Given the description of an element on the screen output the (x, y) to click on. 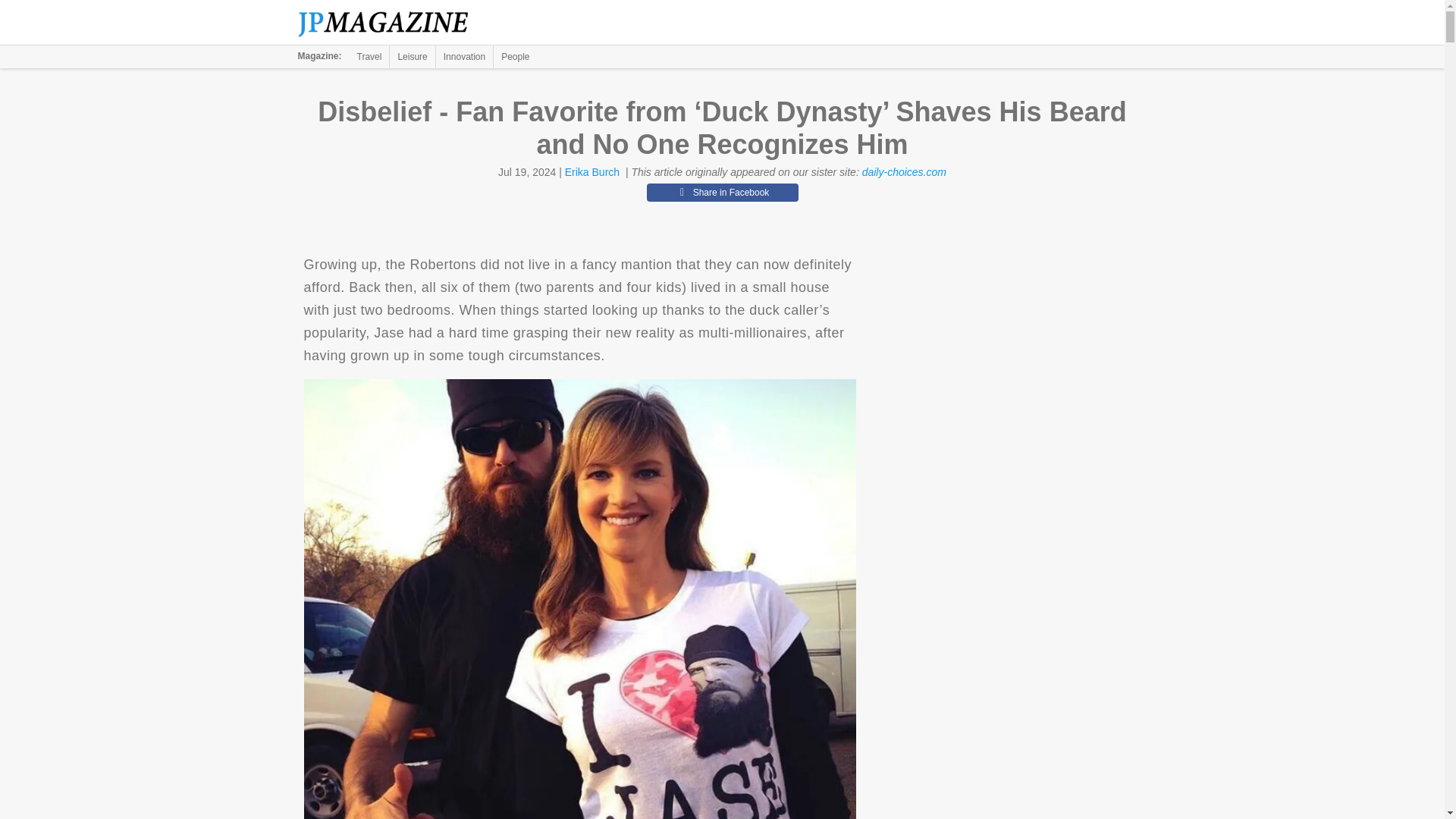
Erika Burch (592, 172)
People (515, 56)
Innovation (464, 56)
The Jerusalem Post Magazine (391, 22)
daily-choices.com (903, 172)
Travel (369, 56)
Share in Facebook (721, 192)
Leisure (411, 56)
